Given the description of an element on the screen output the (x, y) to click on. 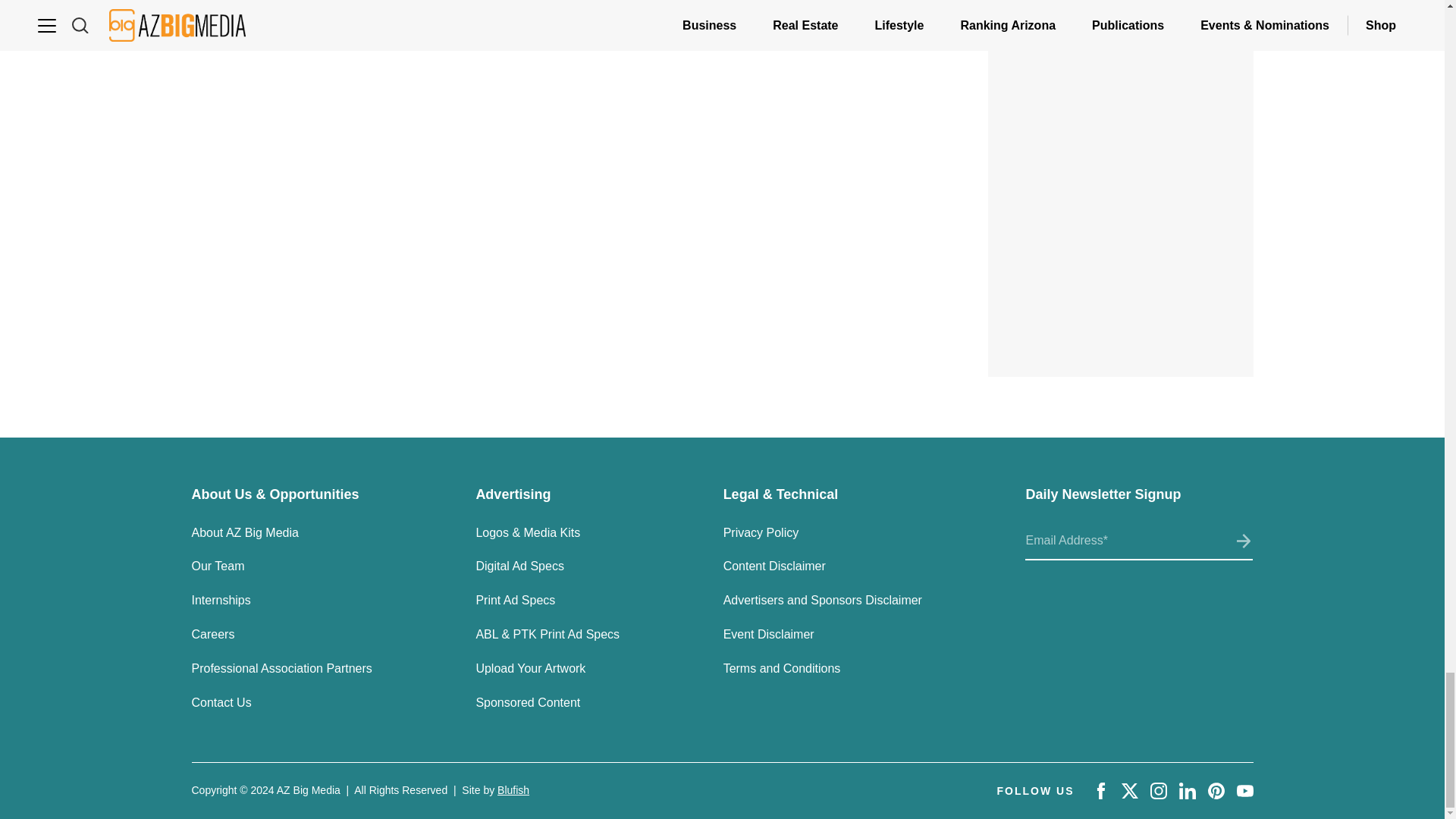
3rd party ad content (1120, 263)
3rd party ad content (1120, 75)
